Given the description of an element on the screen output the (x, y) to click on. 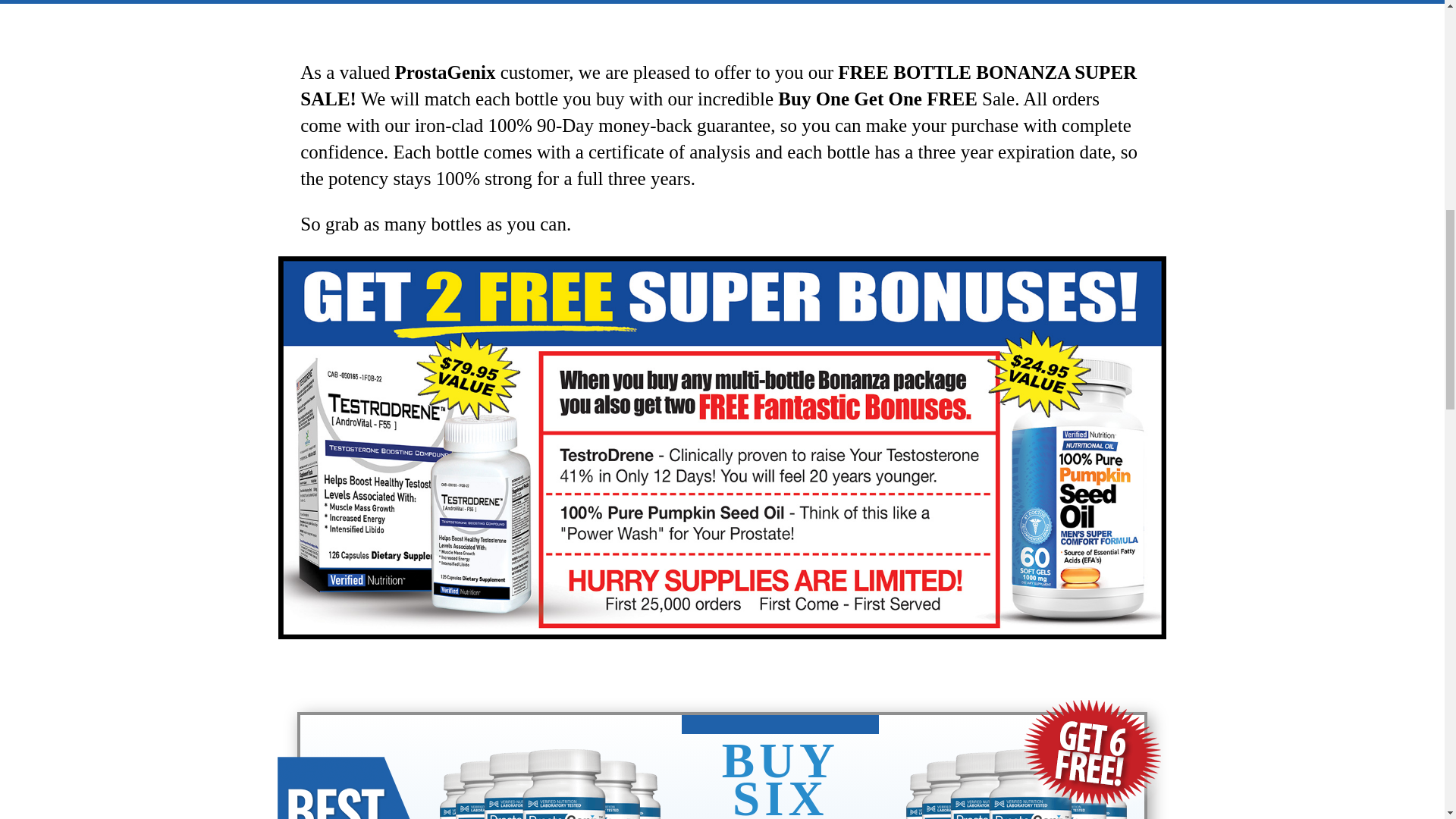
get 6 free (1091, 752)
best deal (347, 787)
